Given the description of an element on the screen output the (x, y) to click on. 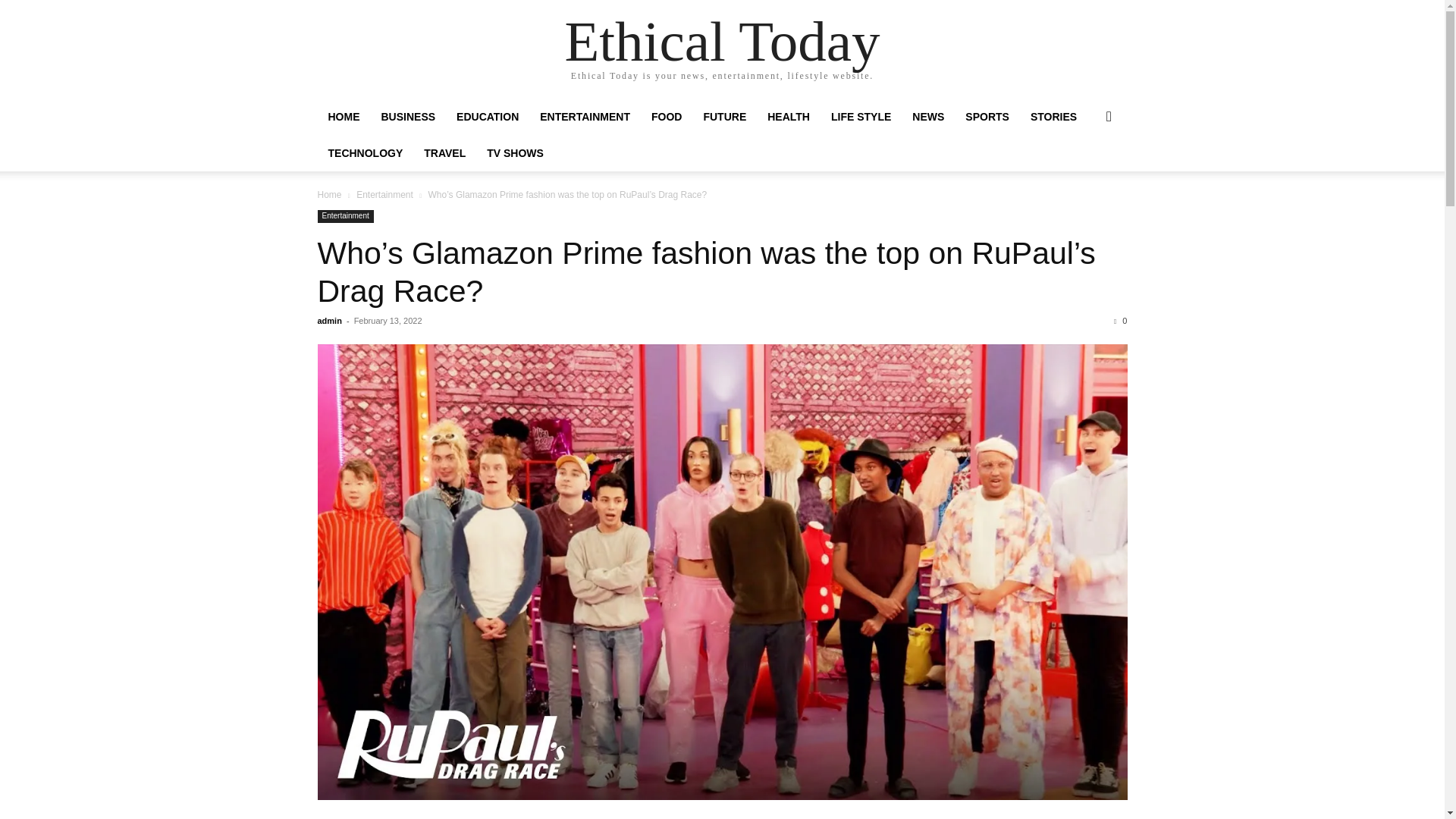
FUTURE (725, 116)
HEALTH (789, 116)
BUSINESS (407, 116)
Home (328, 194)
NEWS (928, 116)
EDUCATION (487, 116)
Entertainment (384, 194)
Ethical Today (721, 41)
TECHNOLOGY (365, 152)
View all posts in Entertainment (384, 194)
admin (328, 320)
TV SHOWS (515, 152)
LIFE STYLE (861, 116)
Entertainment (344, 215)
Search (1085, 177)
